Given the description of an element on the screen output the (x, y) to click on. 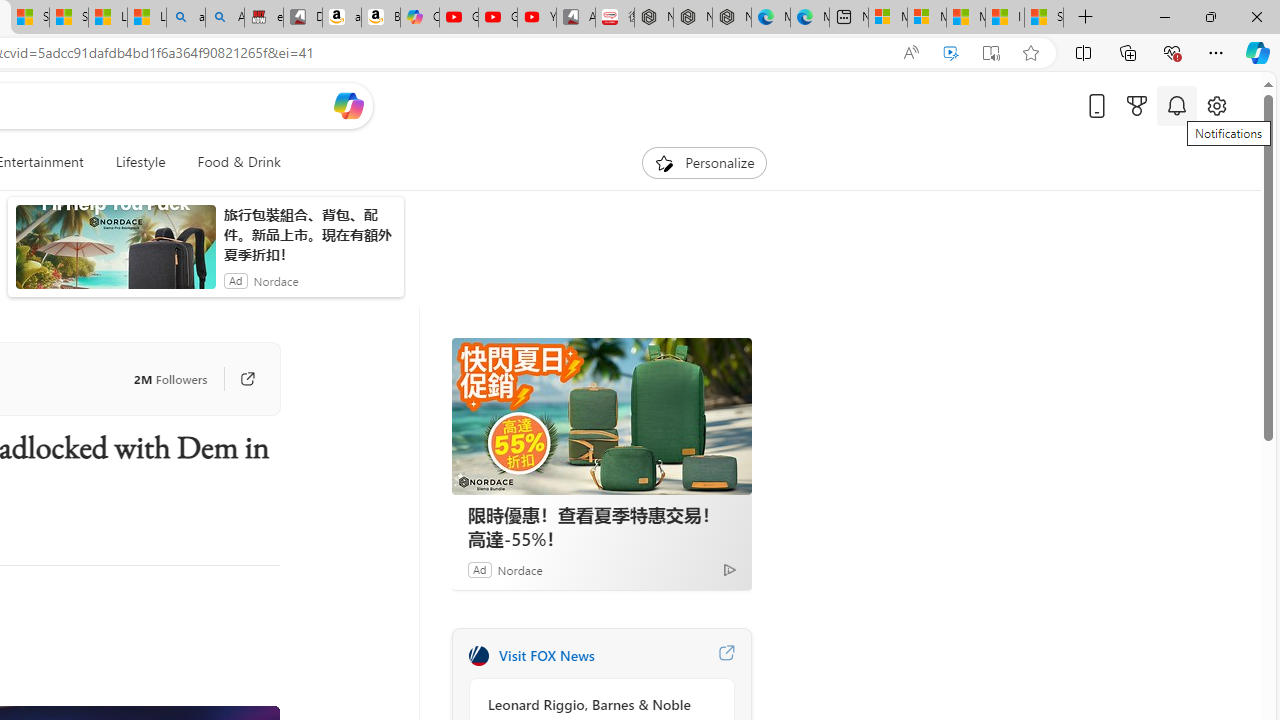
YouTube Kids - An App Created for Kids to Explore Content (536, 17)
Food & Drink (239, 162)
Lifestyle (139, 162)
Nordace - Nordace has arrived Hong Kong (732, 17)
Go to publisher's site (237, 378)
Enhance video (950, 53)
Personalize (703, 162)
Ad Choice (729, 569)
Food & Drink (230, 162)
Copilot (419, 17)
Microsoft rewards (1137, 105)
